Given the description of an element on the screen output the (x, y) to click on. 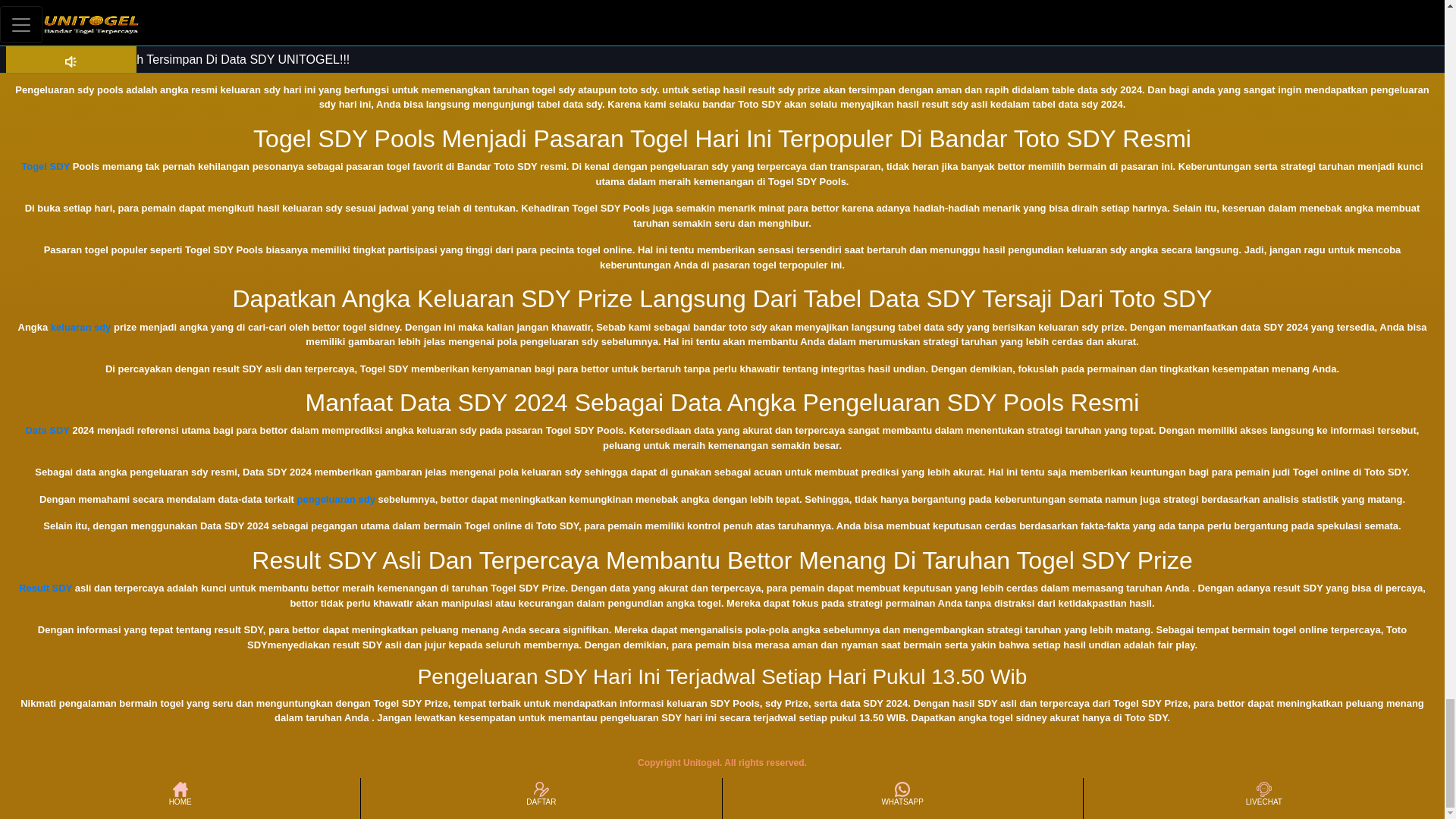
pengeluaran sdy (336, 499)
keluaran sdy (81, 326)
Data SDY (47, 430)
Result SDY (44, 587)
Togel SDY (45, 165)
